Given the description of an element on the screen output the (x, y) to click on. 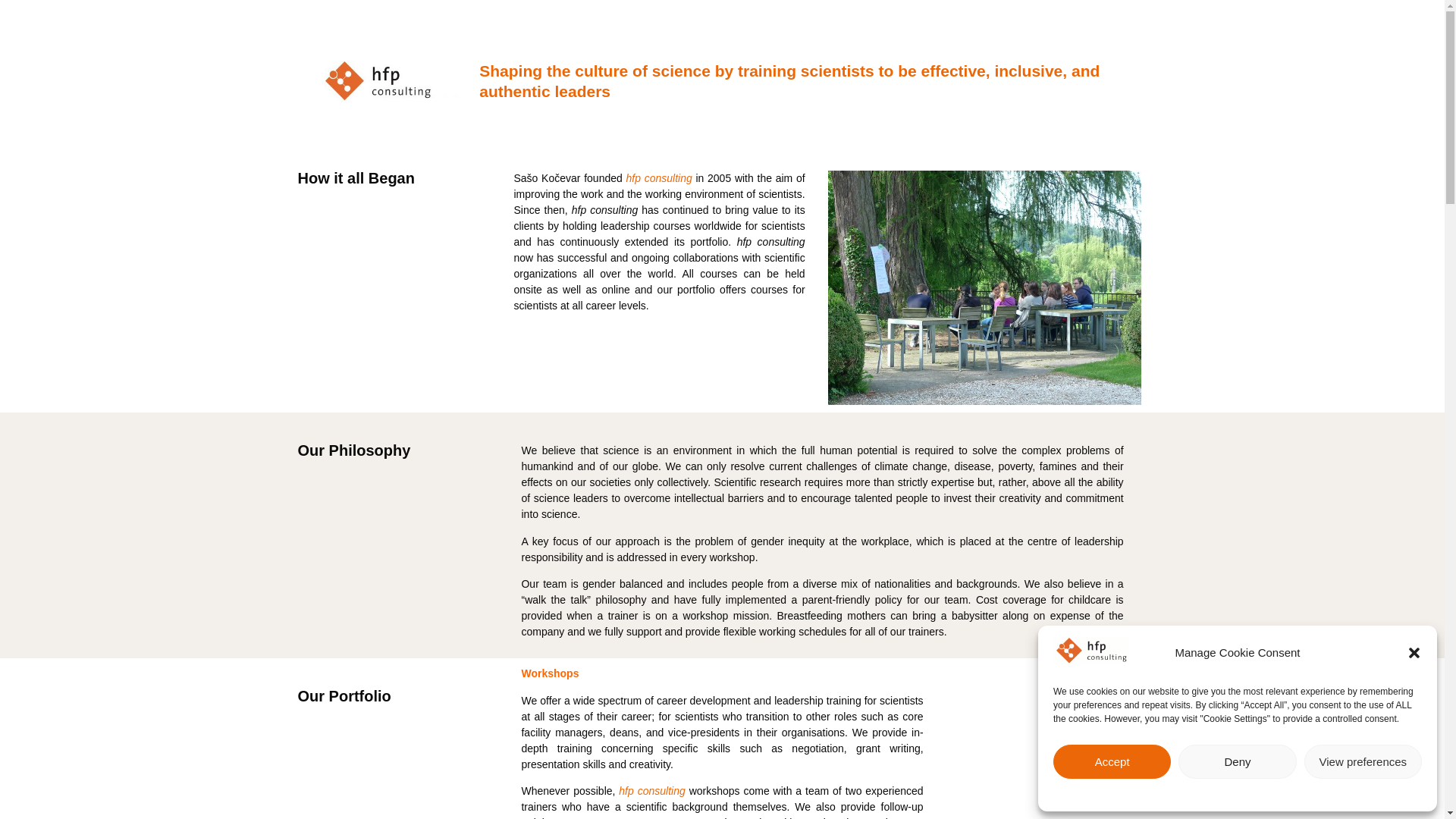
Privacy Policy (1268, 793)
hfp consulting (653, 790)
Cookie policy (1204, 793)
Accept (1111, 761)
hfp consulting (659, 177)
View preferences (1363, 761)
Deny (1236, 761)
